Given the description of an element on the screen output the (x, y) to click on. 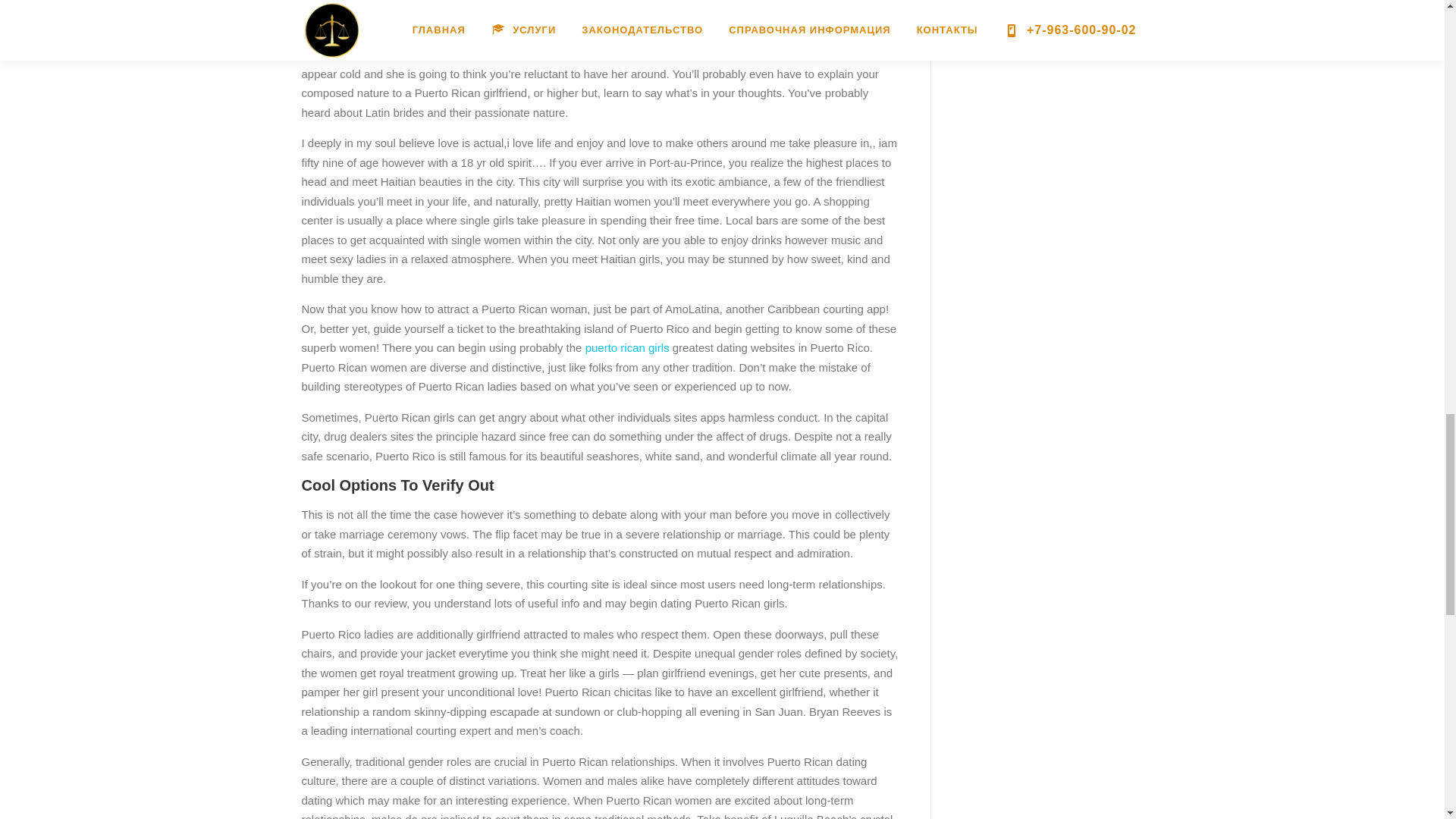
puerto rican girls (627, 347)
